Given the description of an element on the screen output the (x, y) to click on. 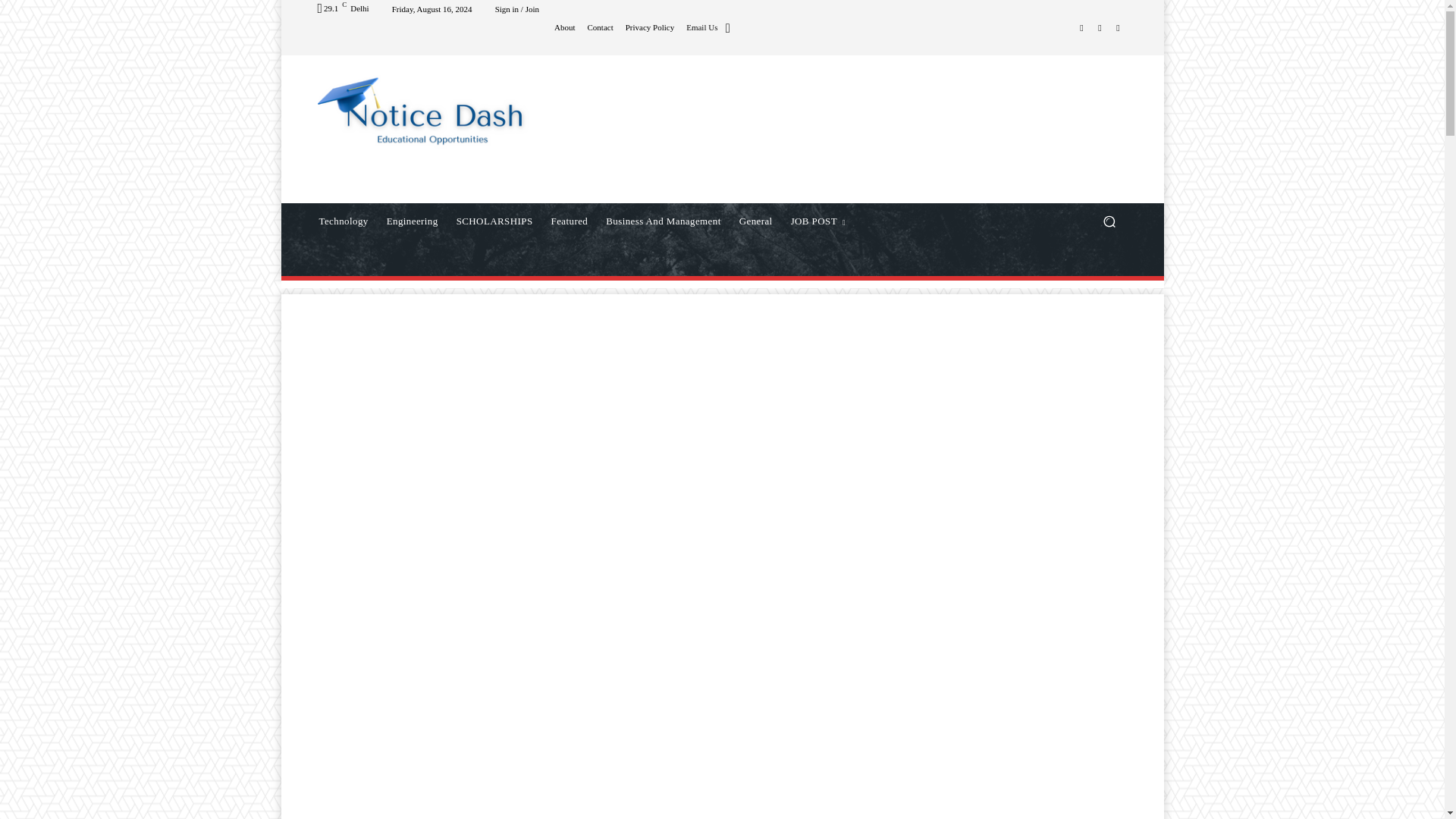
Technology (342, 221)
Business And Management (662, 221)
Twitter (1117, 27)
General (755, 221)
About (564, 27)
JOB POST (817, 221)
SCHOLARSHIPS (493, 221)
Featured (568, 221)
Instagram (1080, 27)
Telegram (1099, 27)
